Given the description of an element on the screen output the (x, y) to click on. 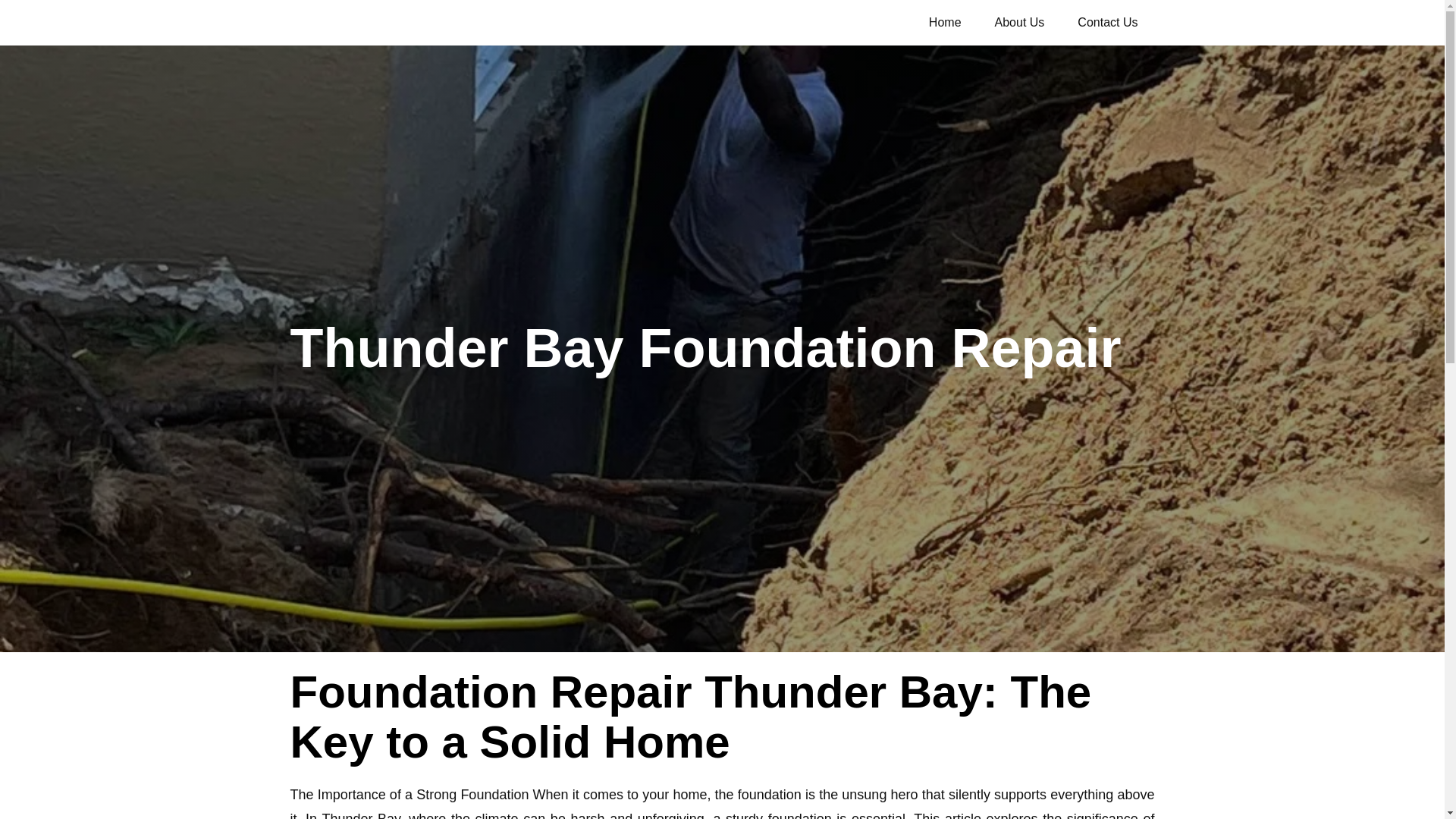
Home (945, 22)
Contact Us (1107, 22)
About Us (1019, 22)
